Given the description of an element on the screen output the (x, y) to click on. 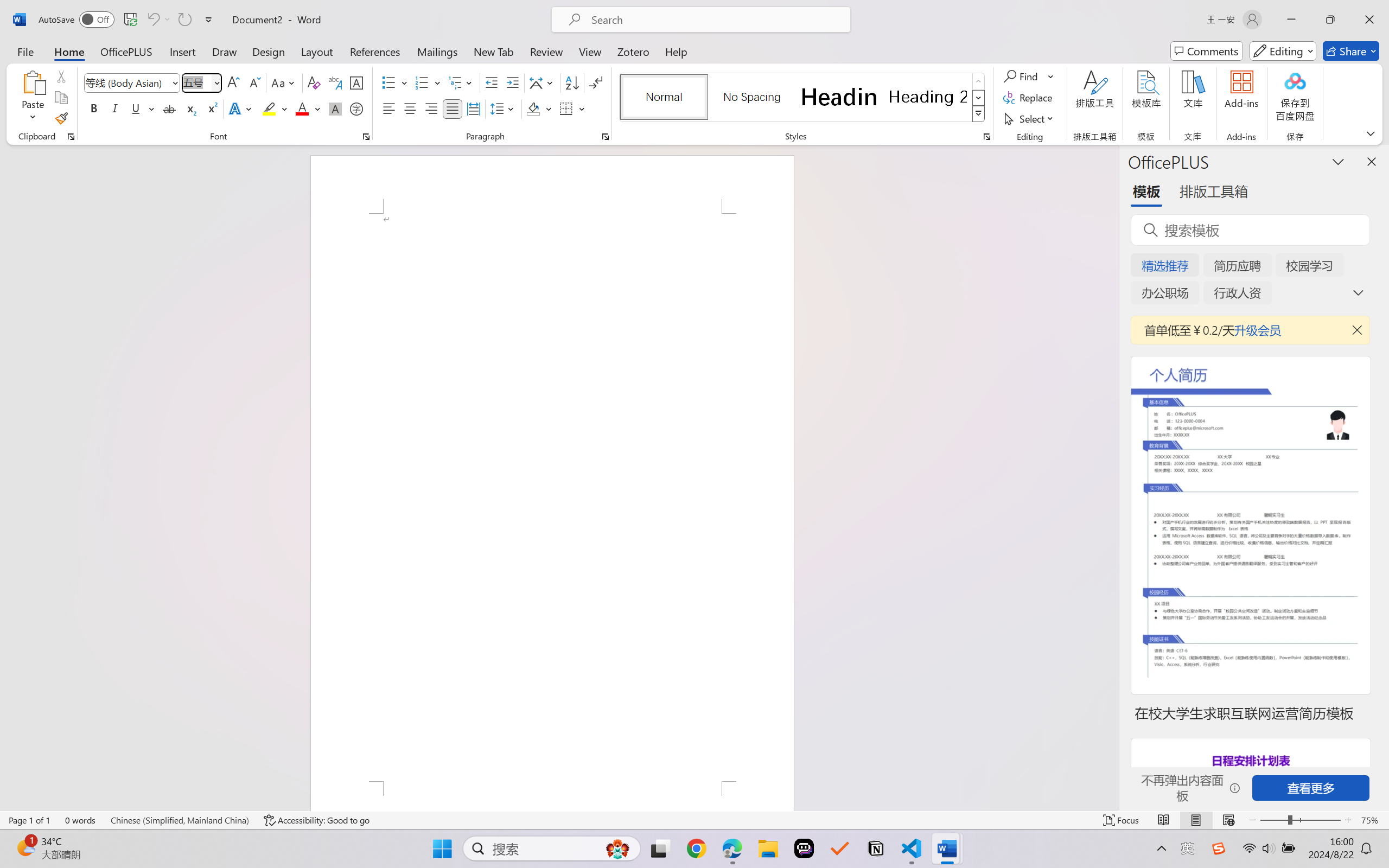
Borders (571, 108)
Replace... (1029, 97)
Mode (1283, 50)
Find (1022, 75)
Language Chinese (Simplified, Mainland China) (179, 819)
Office Clipboard... (70, 136)
Find (1029, 75)
Review (546, 51)
Zotero (632, 51)
Cut (60, 75)
Class: MsoCommandBar (694, 819)
Zoom (1300, 819)
